Given the description of an element on the screen output the (x, y) to click on. 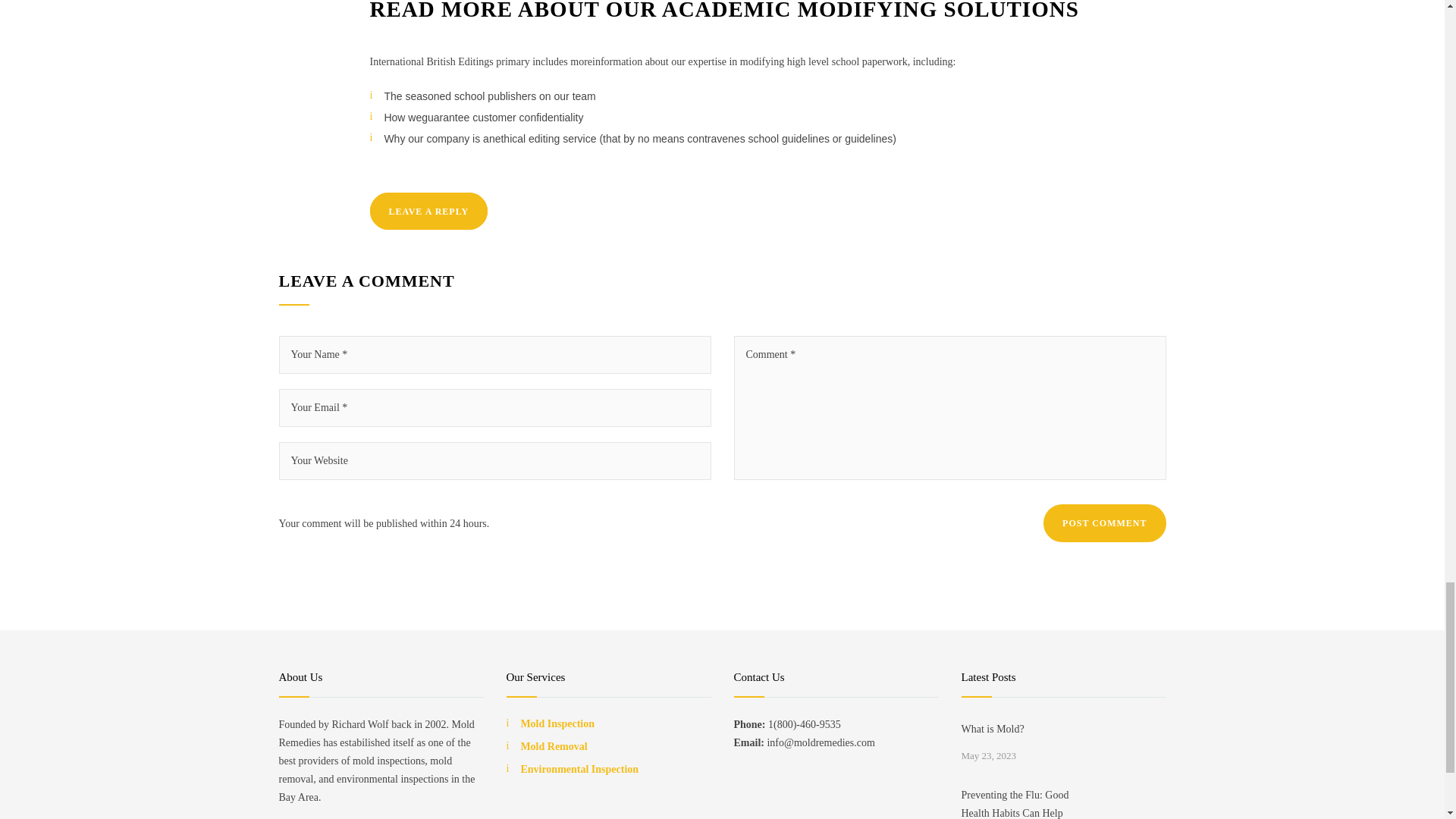
LEAVE A REPLY (428, 211)
What is Mold? (1021, 729)
POST COMMENT (1104, 523)
Your Website (495, 460)
LEAVE A REPLY (428, 211)
